Given the description of an element on the screen output the (x, y) to click on. 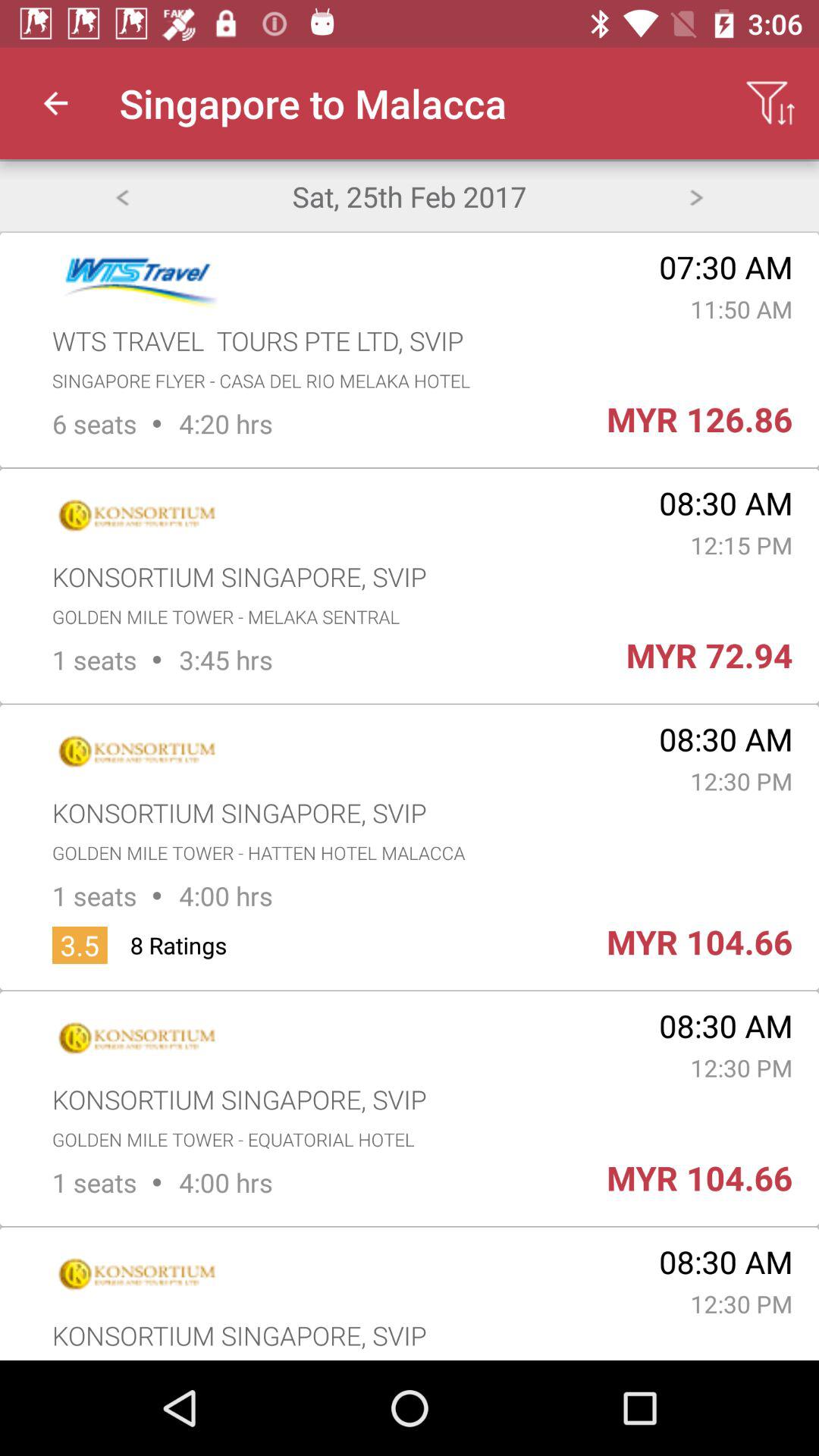
open the app to the right of the singapore to malacca (770, 103)
